Given the description of an element on the screen output the (x, y) to click on. 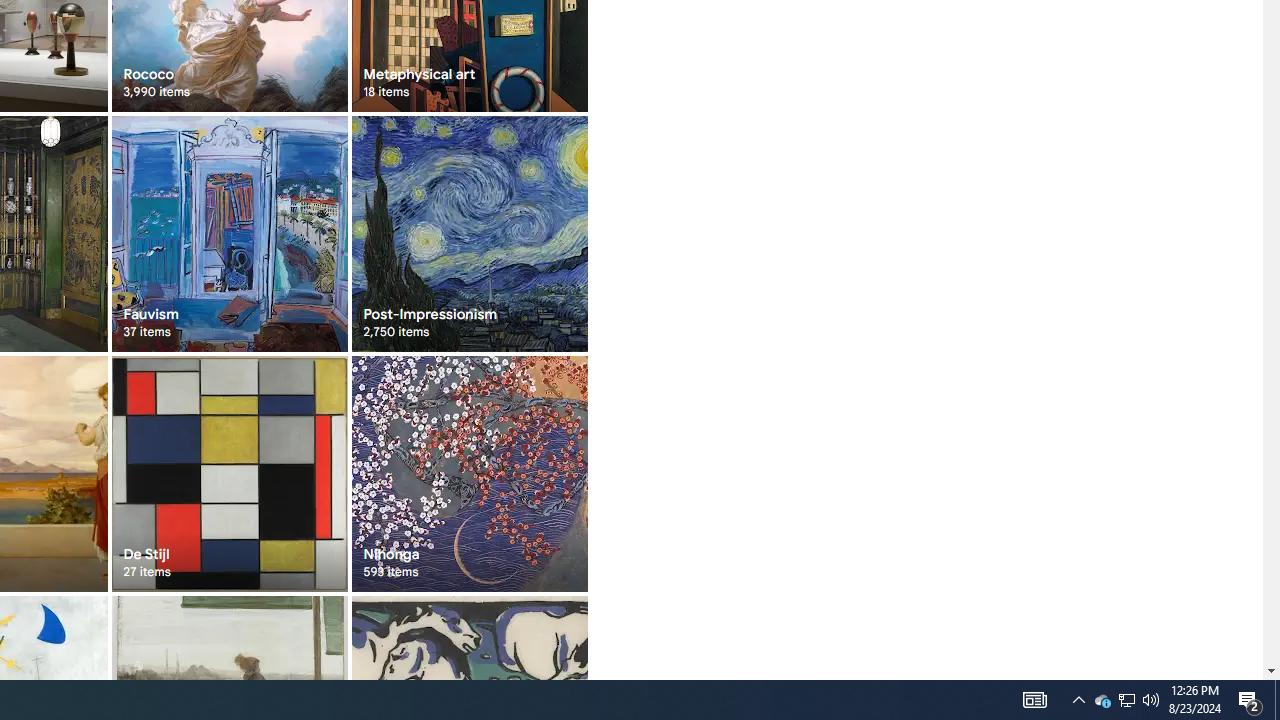
Post-Impressionism 2,750 items (468, 233)
De Stijl 27 items (229, 473)
Nihonga 593 items (468, 473)
Fauvism 37 items (229, 233)
